Given the description of an element on the screen output the (x, y) to click on. 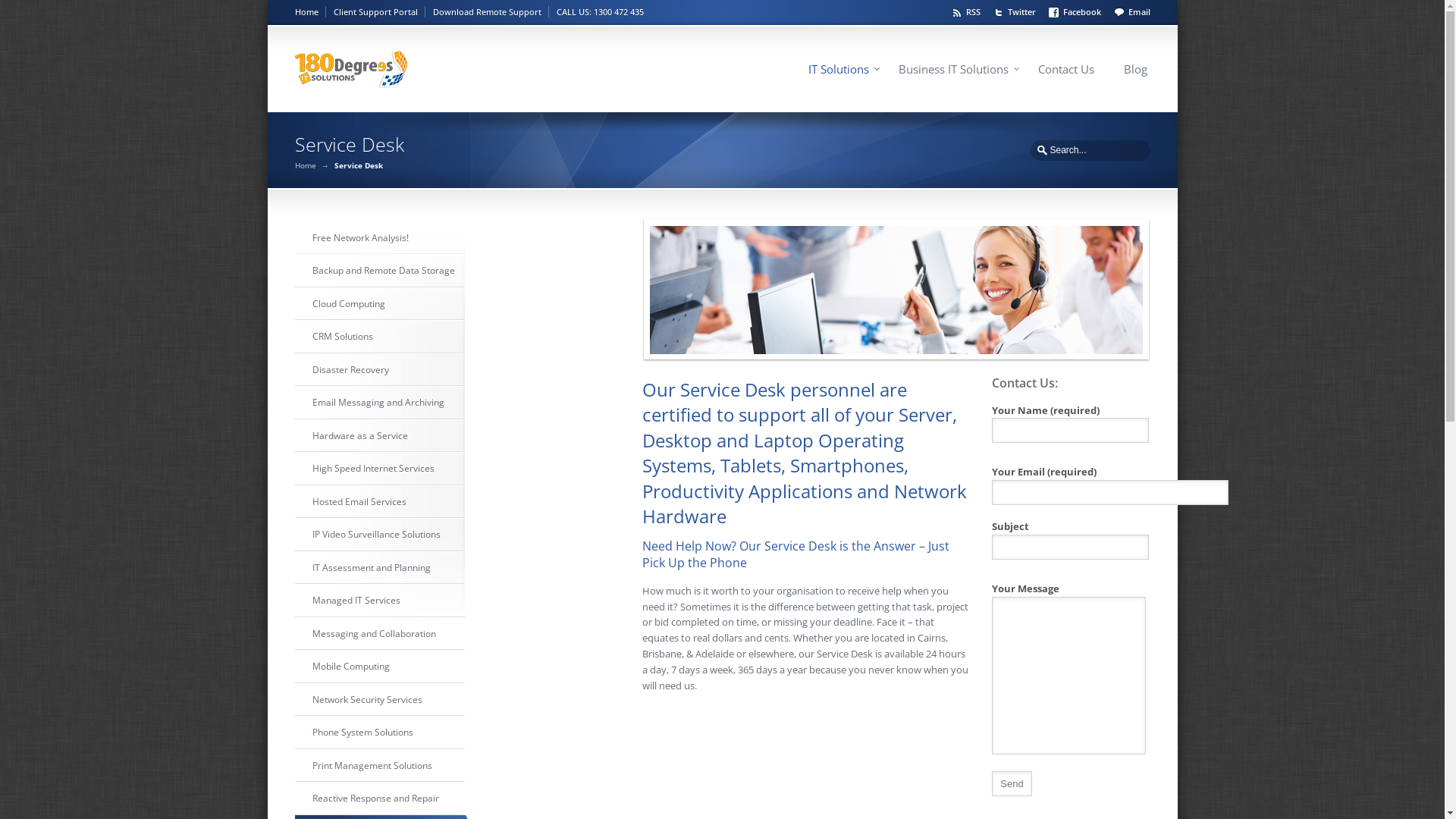
Download Remote Support Element type: text (490, 11)
Backup and Remote Data Storage Element type: text (379, 270)
Messaging and Collaboration Element type: text (379, 633)
IP Video Surveillance Solutions Element type: text (379, 534)
Managed IT Services Element type: text (379, 600)
Hardware as a Service Element type: text (379, 435)
Blog Element type: text (1135, 68)
Cloud Computing Element type: text (379, 304)
CALL US: 1300 472 435 Element type: text (599, 11)
High Speed Internet Services Element type: text (379, 468)
Network Security Services Element type: text (379, 699)
Contact Us Element type: text (1065, 68)
RSS Element type: text (968, 10)
IT Assessment and Planning Element type: text (379, 567)
Disaster Recovery Element type: text (379, 369)
CRM Solutions Element type: text (379, 336)
Reactive Response and Repair Element type: text (379, 798)
Mobile Computing Element type: text (379, 666)
Client Support Portal Element type: text (379, 11)
Business IT Solutions Element type: text (952, 68)
Print Management Solutions Element type: text (379, 765)
Email Messaging and Archiving Element type: text (379, 402)
Send Element type: text (1011, 783)
IT Solutions Element type: text (838, 68)
Email Element type: text (1130, 10)
Hosted Email Services Element type: text (379, 501)
Free Network Analysis! Element type: text (379, 237)
Phone System Solutions Element type: text (379, 732)
Home Element type: text (304, 164)
Facebook Element type: text (1076, 10)
Home Element type: text (309, 11)
Twitter Element type: text (1015, 10)
